Given the description of an element on the screen output the (x, y) to click on. 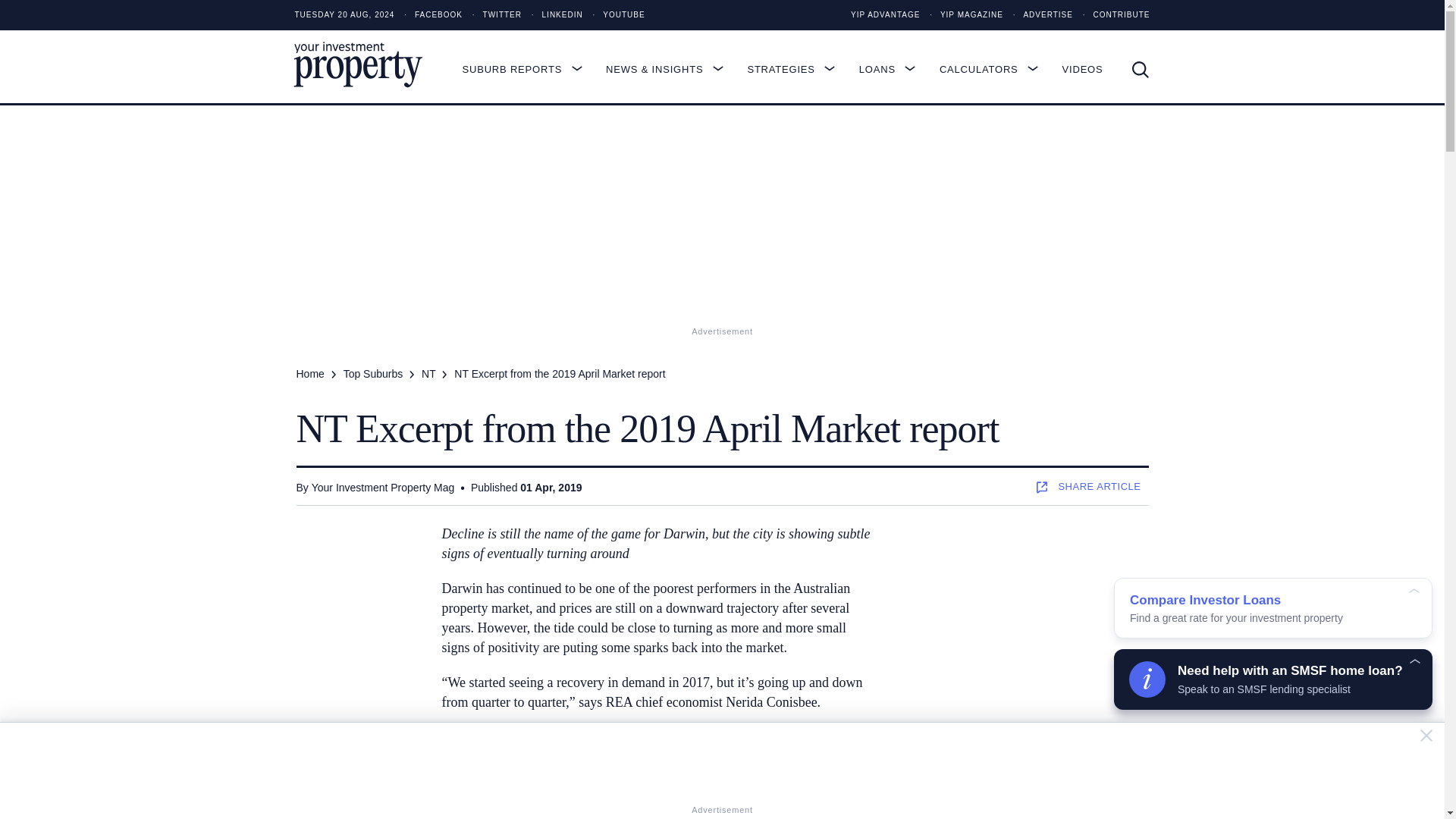
CONTRIBUTE (1112, 15)
YOUTUBE (615, 15)
3rd party ad content (722, 763)
TWITTER (492, 15)
YIP MAGAZINE (962, 15)
FACEBOOK (429, 15)
STRATEGIES (797, 69)
3rd party ad content (1028, 618)
LINKEDIN (553, 15)
